Given the description of an element on the screen output the (x, y) to click on. 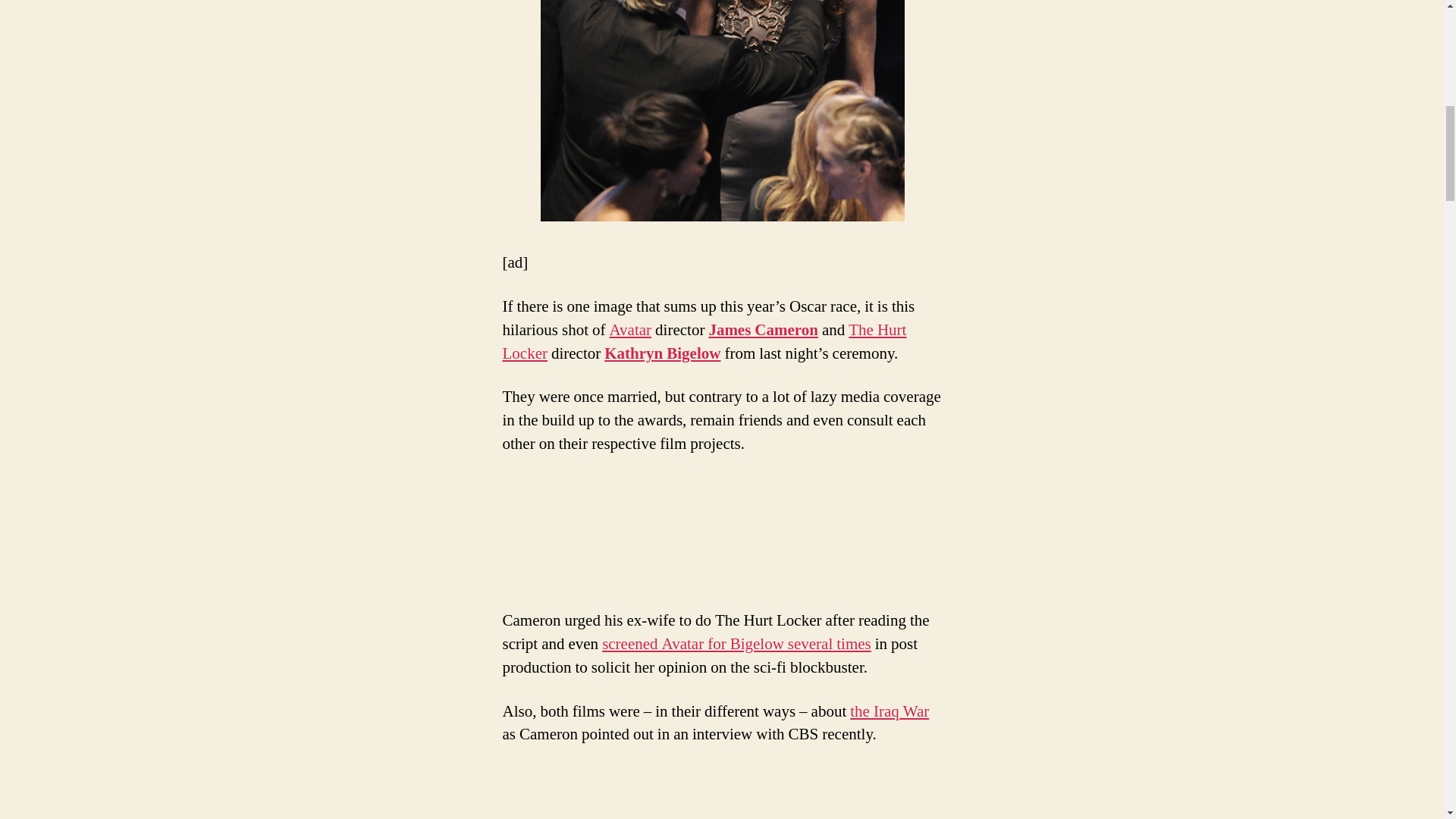
James Cameron vs Kathryn Bigelow (722, 110)
Avatar (631, 330)
Kathryn Bigelow (662, 353)
the Iraq War (889, 711)
The Hurt Locker (703, 341)
screened Avatar for Bigelow several times (736, 643)
James Cameron (762, 330)
